Given the description of an element on the screen output the (x, y) to click on. 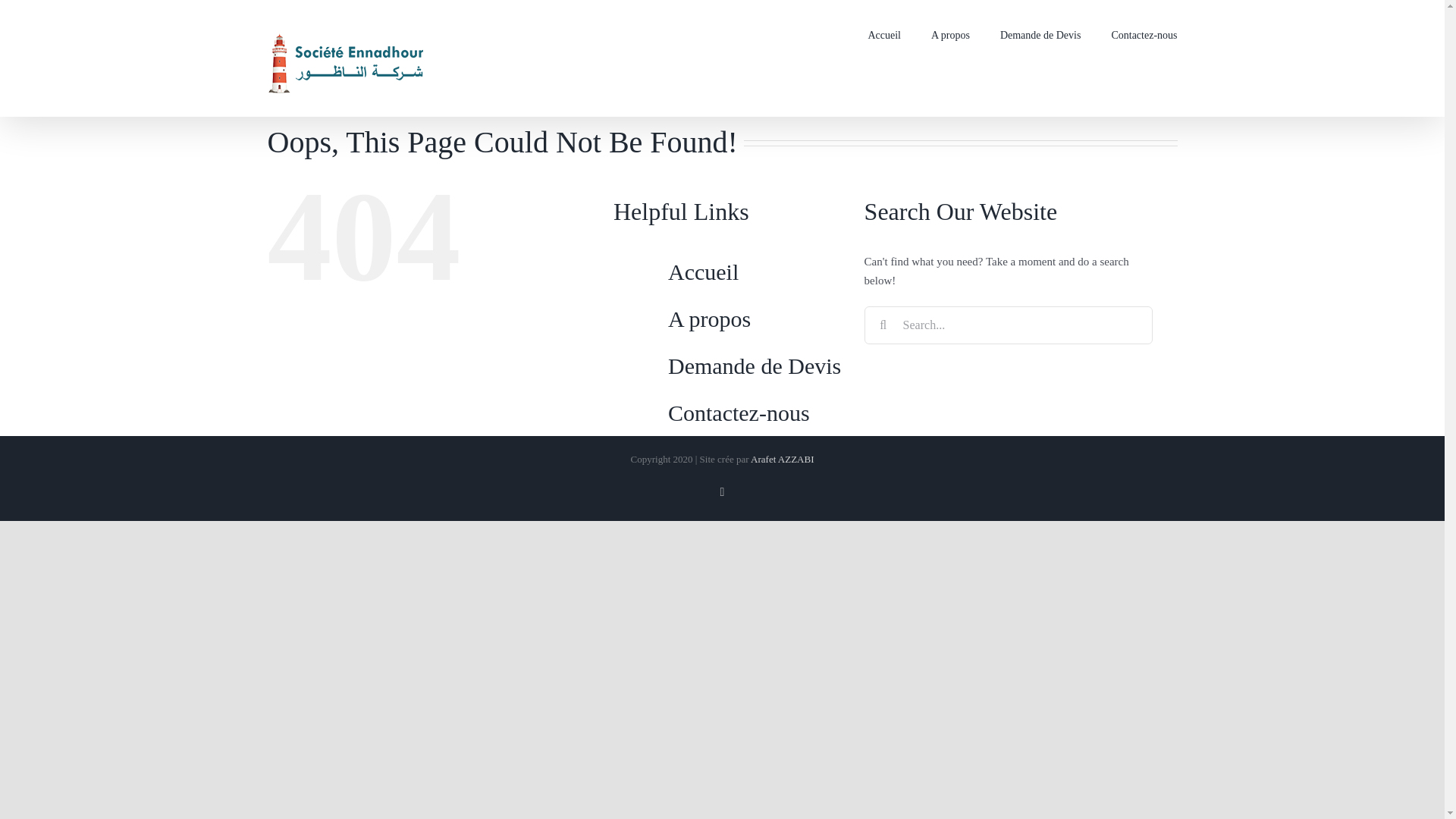
Contactez-nous (1143, 33)
A propos (709, 318)
Arafet AZZABI (782, 459)
Accueil (703, 271)
Demande de Devis (754, 365)
Demande de Devis (1040, 33)
Contactez-nous (738, 412)
